Given the description of an element on the screen output the (x, y) to click on. 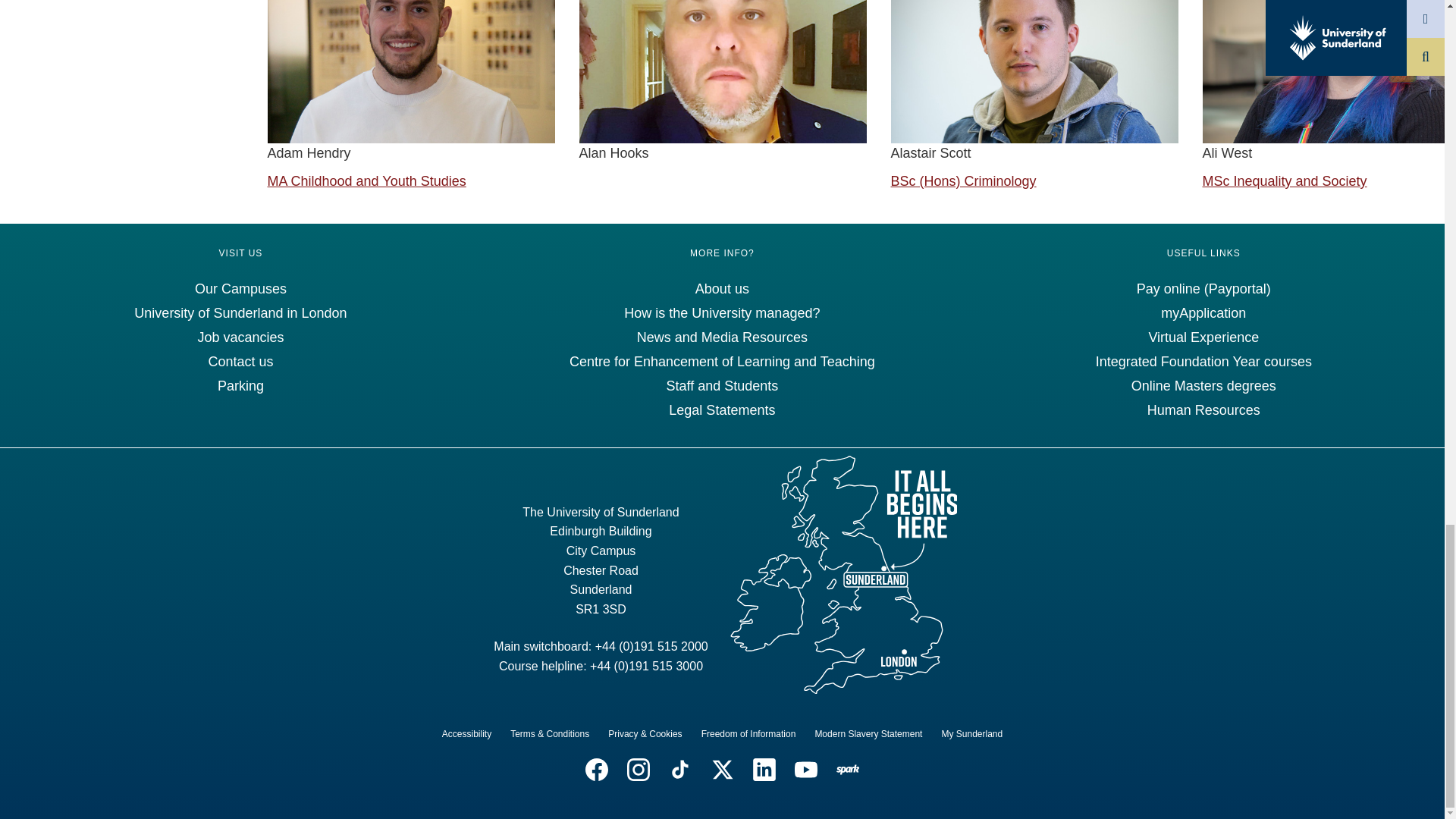
Visit the Human Resources website (1203, 409)
Visit the Online Masters website (1203, 385)
Manage your Application (1203, 313)
Pay online (1204, 288)
Job vacancies at Sunderland (239, 337)
Staff and Students Portal (721, 385)
